Given the description of an element on the screen output the (x, y) to click on. 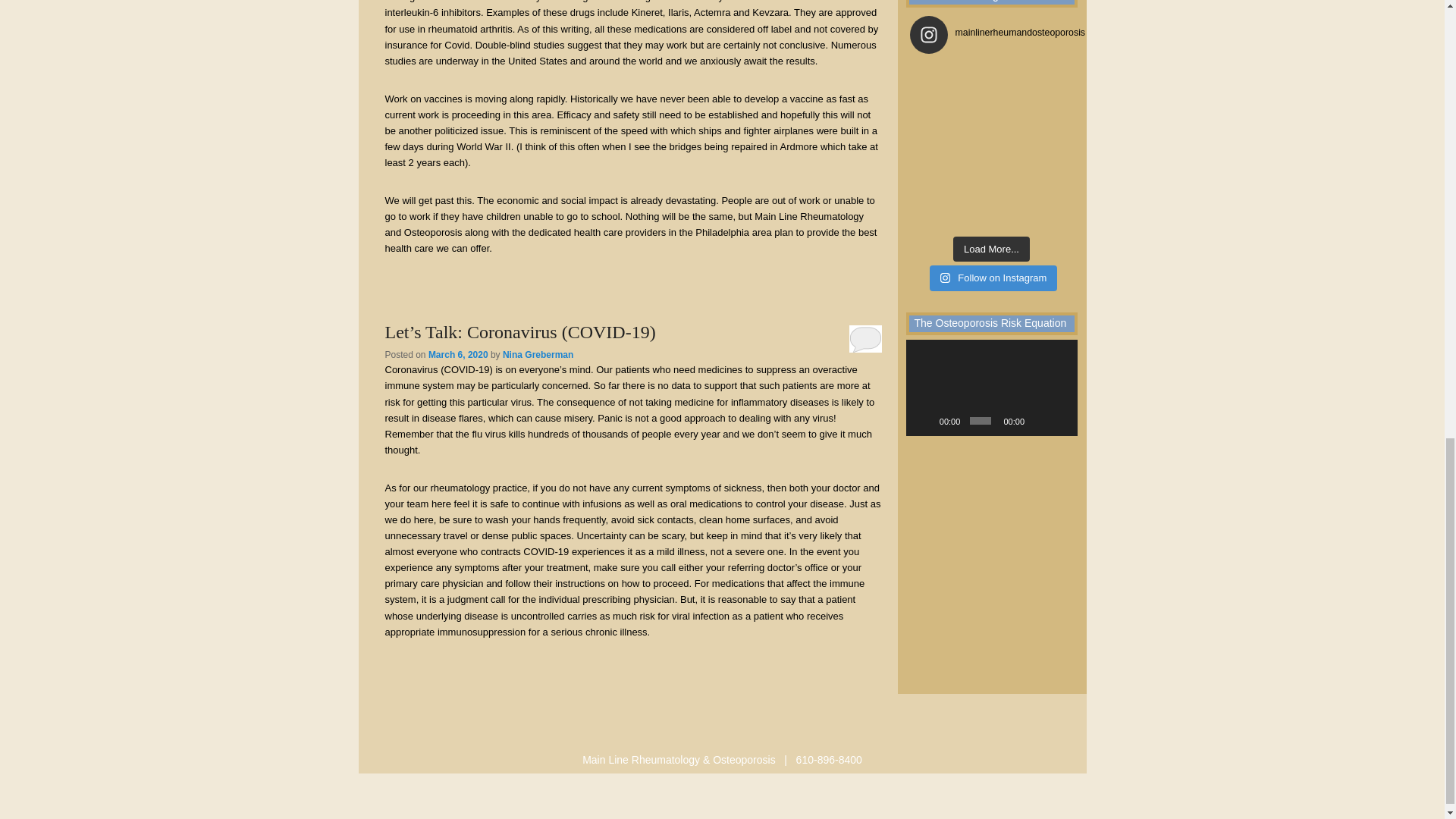
View all posts by Nina Greberman (537, 354)
Nina Greberman (537, 354)
March 6, 2020 (457, 354)
3:08 pm (457, 354)
